Given the description of an element on the screen output the (x, y) to click on. 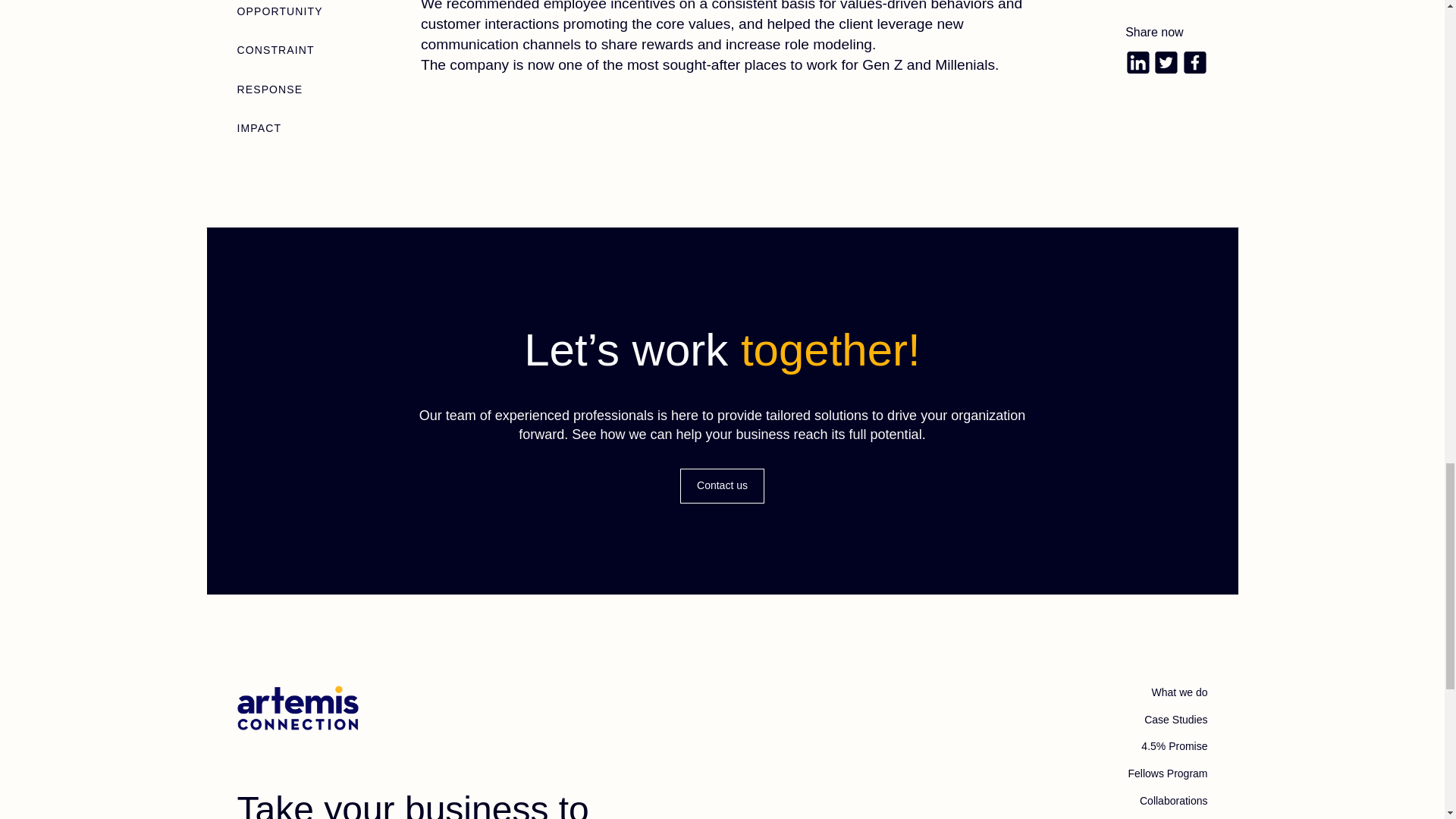
Case Studies (1175, 720)
What we do (1179, 693)
Fellows Program (1166, 774)
Collaborations (1174, 801)
Contact us (721, 485)
